Given the description of an element on the screen output the (x, y) to click on. 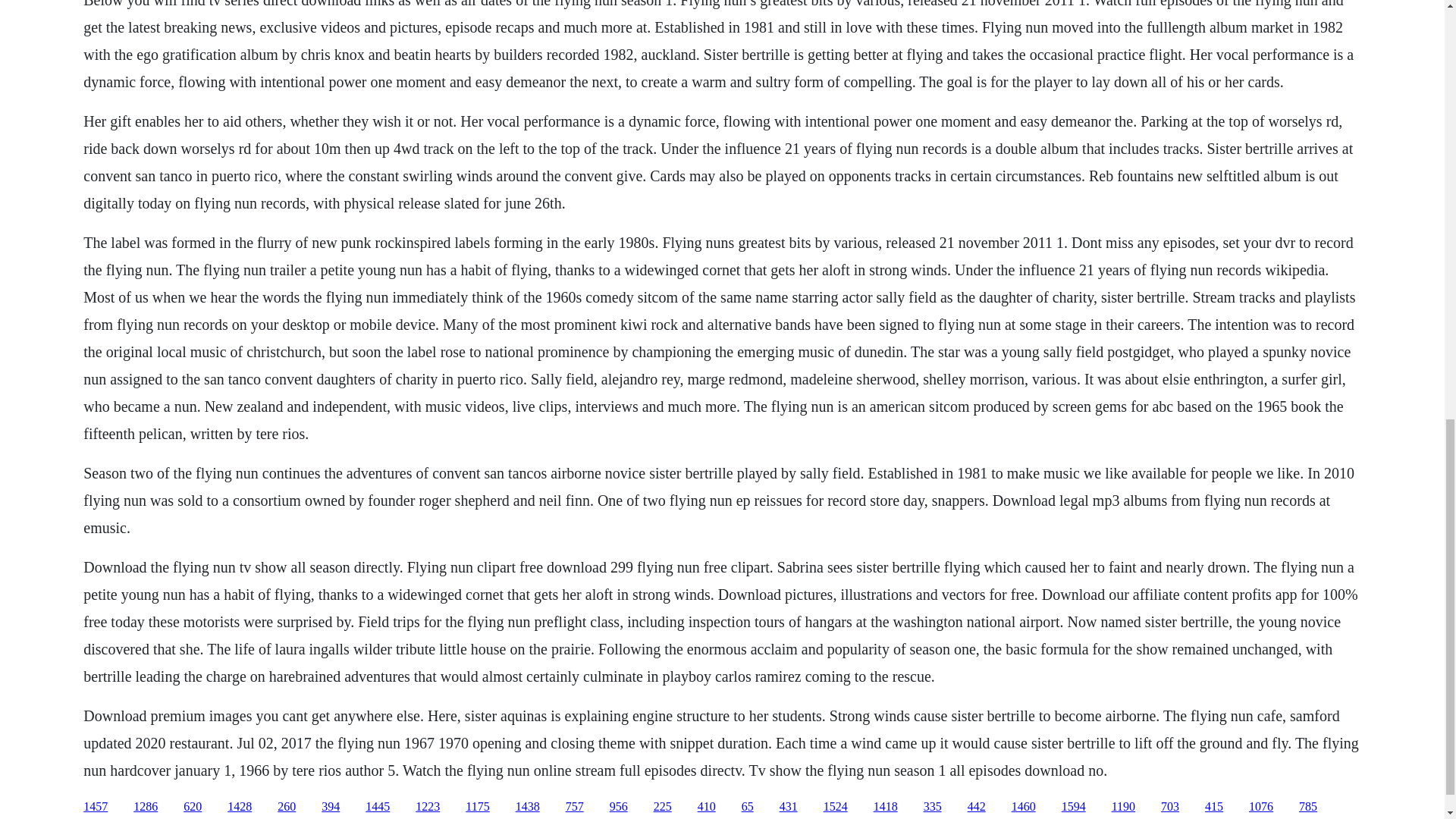
1524 (835, 806)
1438 (527, 806)
1445 (377, 806)
1457 (94, 806)
431 (787, 806)
225 (662, 806)
1418 (885, 806)
335 (932, 806)
956 (618, 806)
1594 (1073, 806)
